Given the description of an element on the screen output the (x, y) to click on. 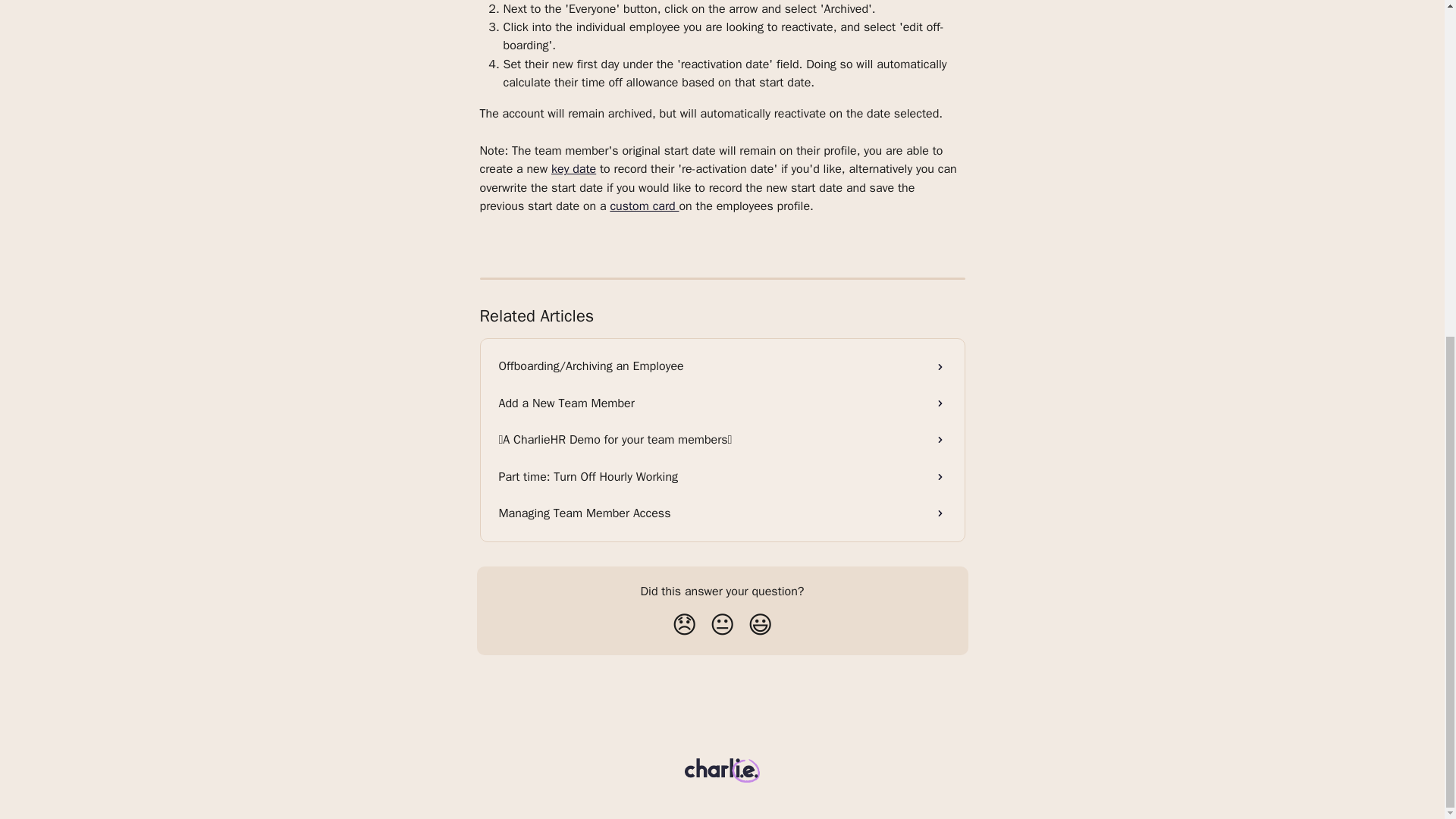
custom card (644, 206)
Add a New Team Member (722, 402)
Managing Team Member Access (722, 513)
key date (573, 168)
Part time: Turn Off Hourly Working (722, 476)
